Given the description of an element on the screen output the (x, y) to click on. 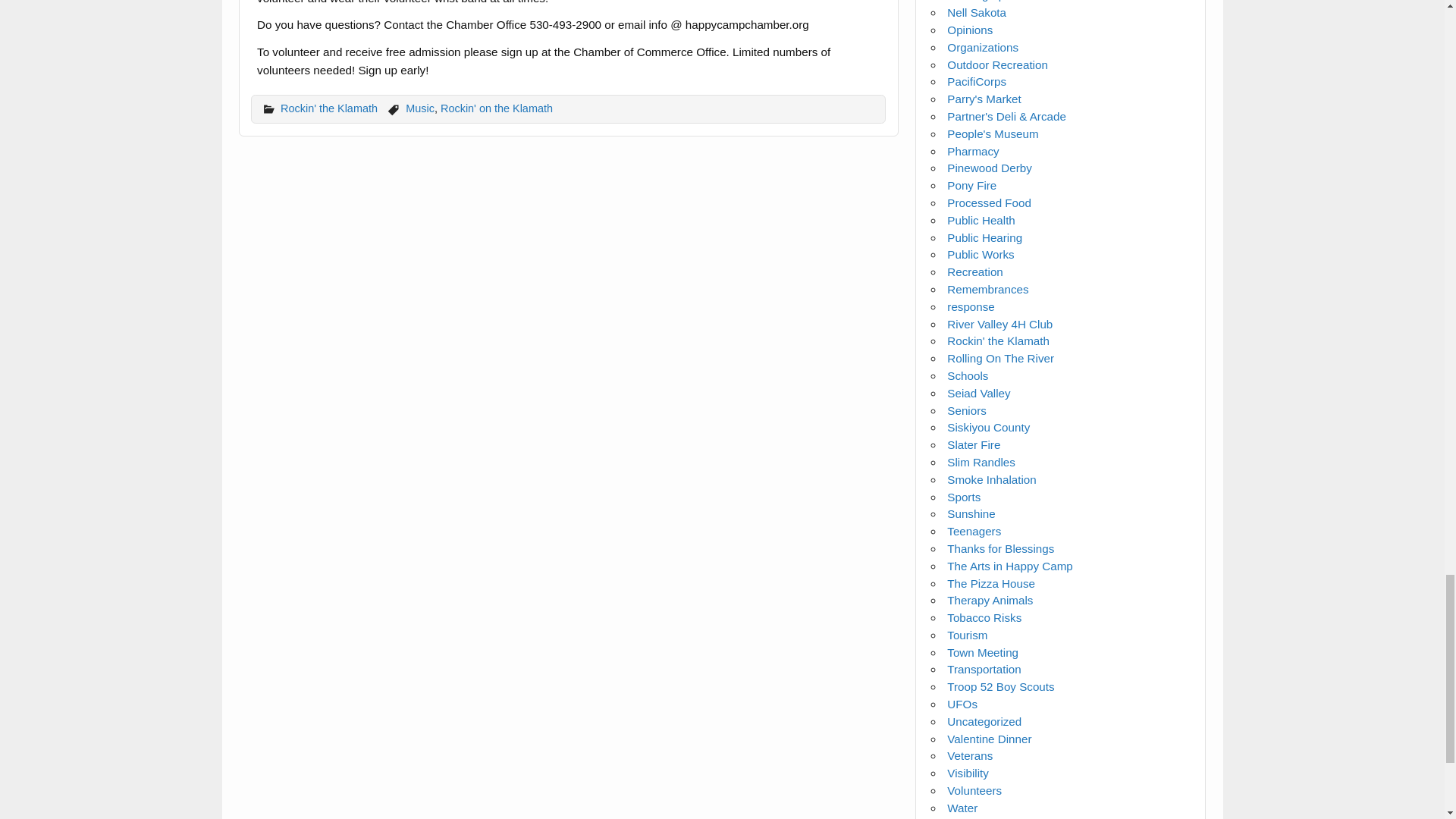
Music (419, 108)
Rockin' on the Klamath (497, 108)
Rockin' the Klamath (329, 108)
